Given the description of an element on the screen output the (x, y) to click on. 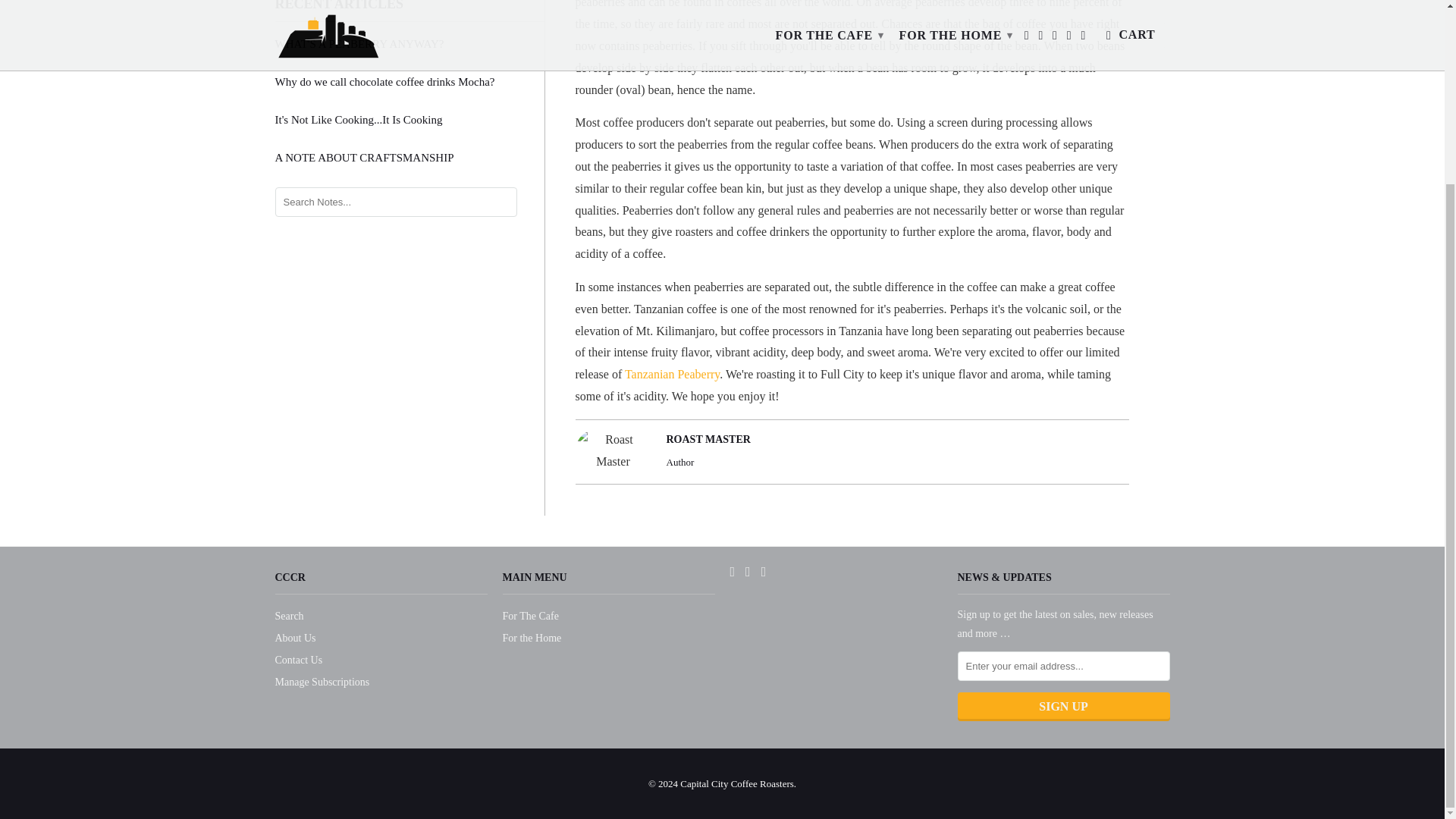
Sign Up (1062, 705)
A NOTE ABOUT CRAFTSMANSHIP (409, 157)
Why do we call chocolate coffee drinks Mocha? (409, 81)
WHAT'S A PEABERRY ANYWAY? (409, 43)
It's Not Like Cooking...It Is Cooking (409, 119)
